Given the description of an element on the screen output the (x, y) to click on. 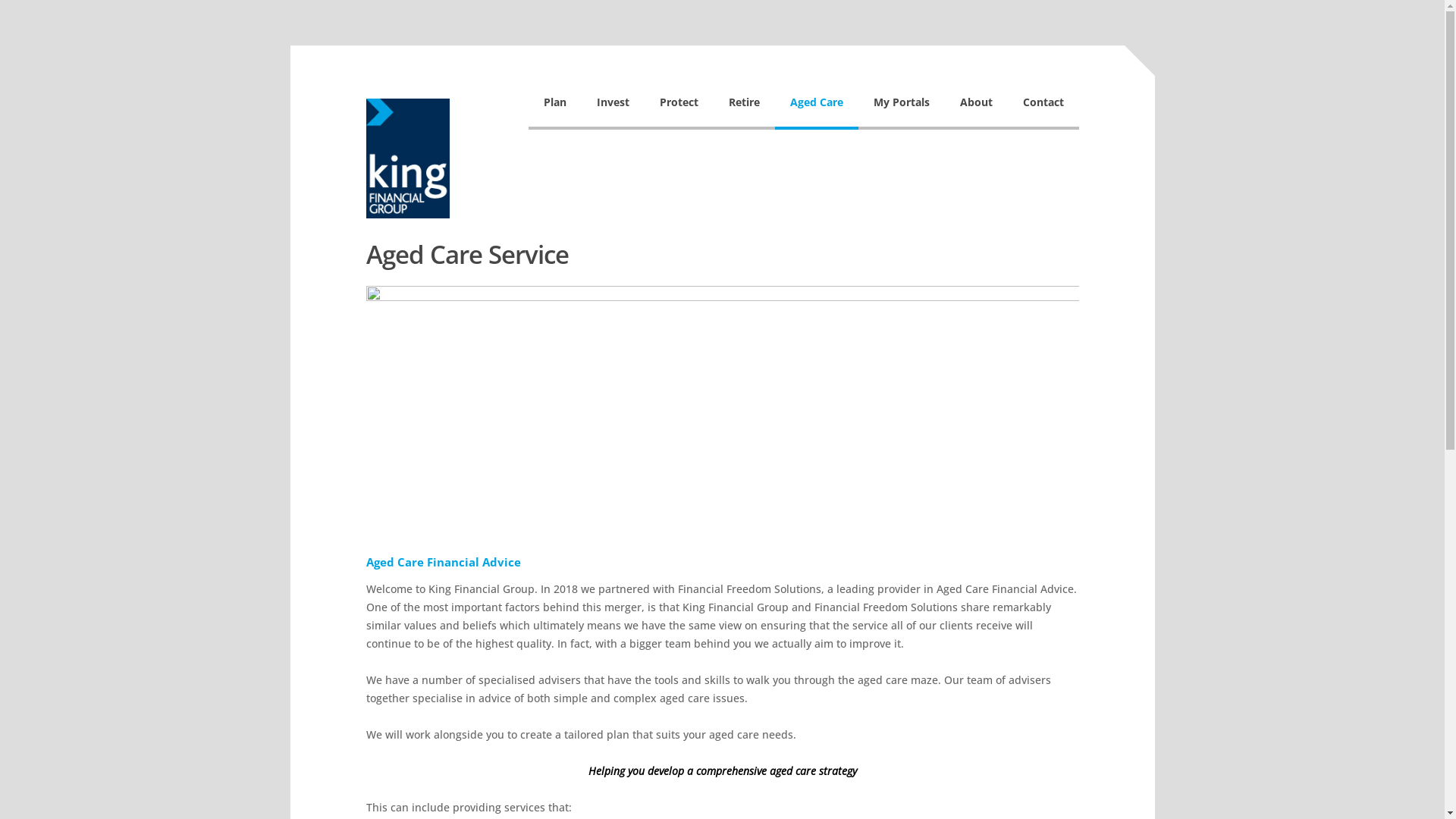
Retire Element type: text (743, 110)
Invest Element type: text (611, 110)
Protect Element type: text (678, 110)
Contact Element type: text (1042, 110)
Plan Element type: text (553, 110)
About Element type: text (975, 110)
Aged Care Element type: text (816, 110)
My Portals Element type: text (901, 110)
